Given the description of an element on the screen output the (x, y) to click on. 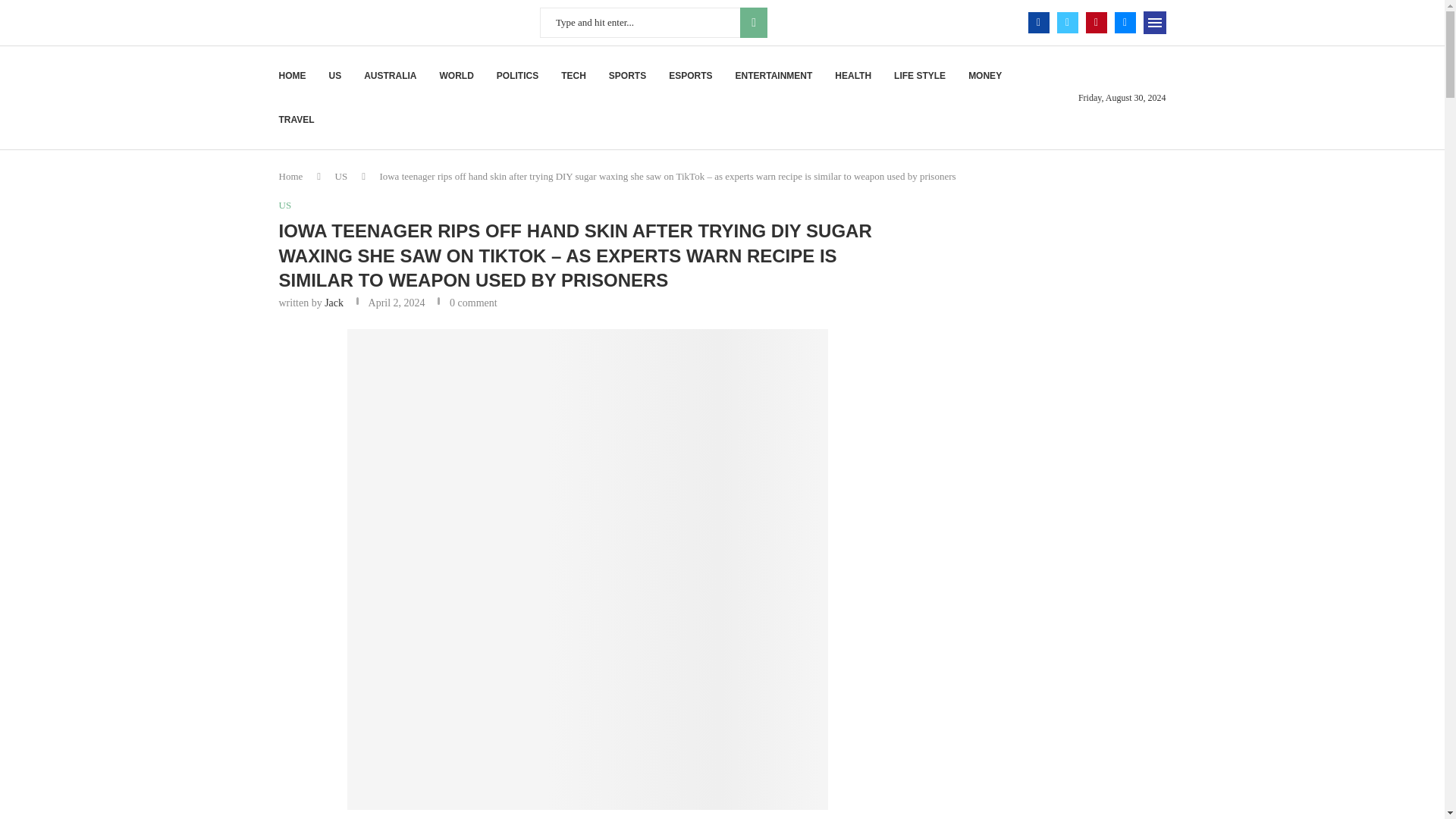
ENTERTAINMENT (773, 75)
SEARCH (753, 22)
LIFE STYLE (918, 75)
ESPORTS (689, 75)
POLITICS (517, 75)
AUSTRALIA (390, 75)
